Given the description of an element on the screen output the (x, y) to click on. 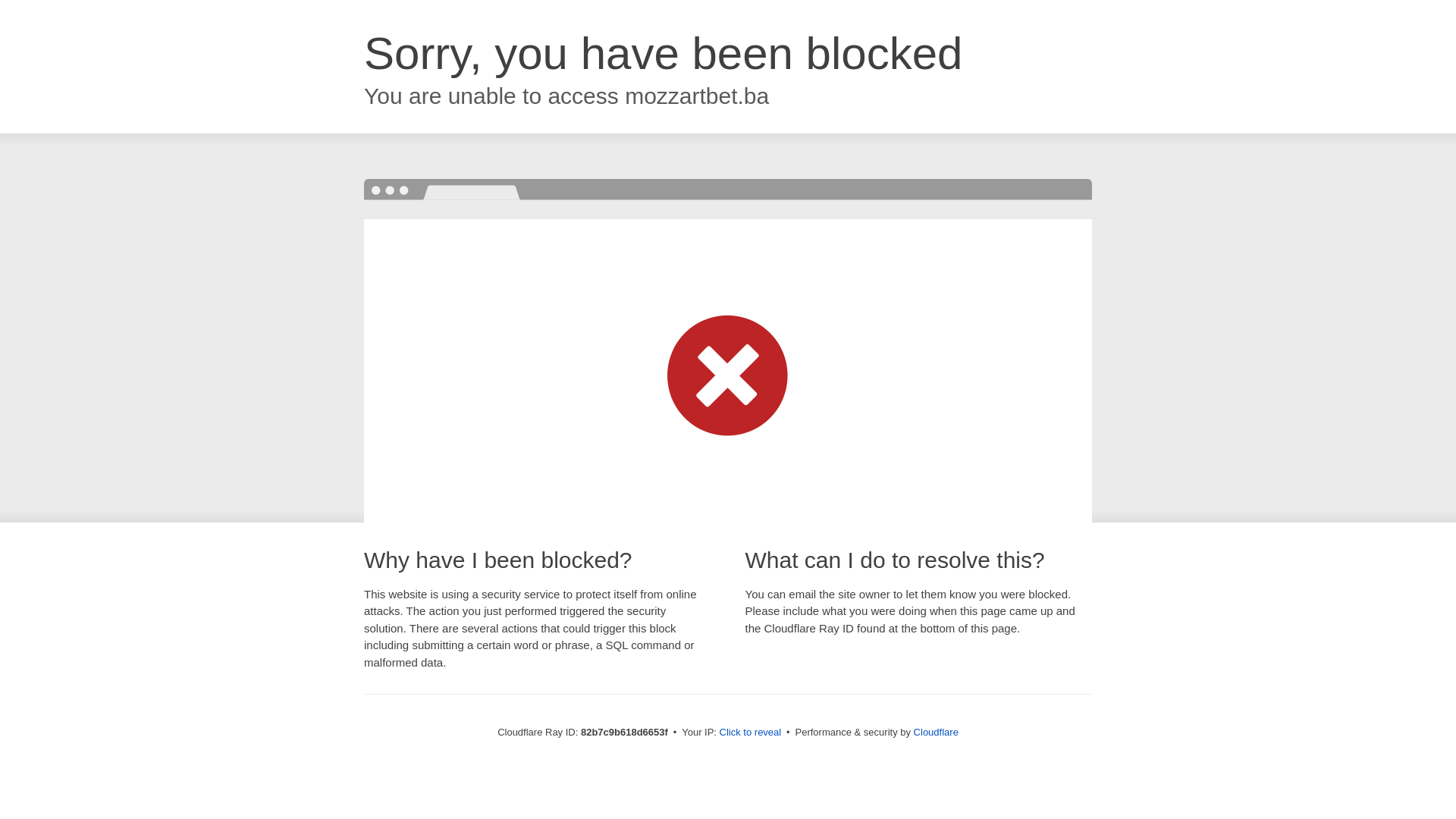
Cloudflare Element type: text (935, 731)
Click to reveal Element type: text (750, 732)
